Given the description of an element on the screen output the (x, y) to click on. 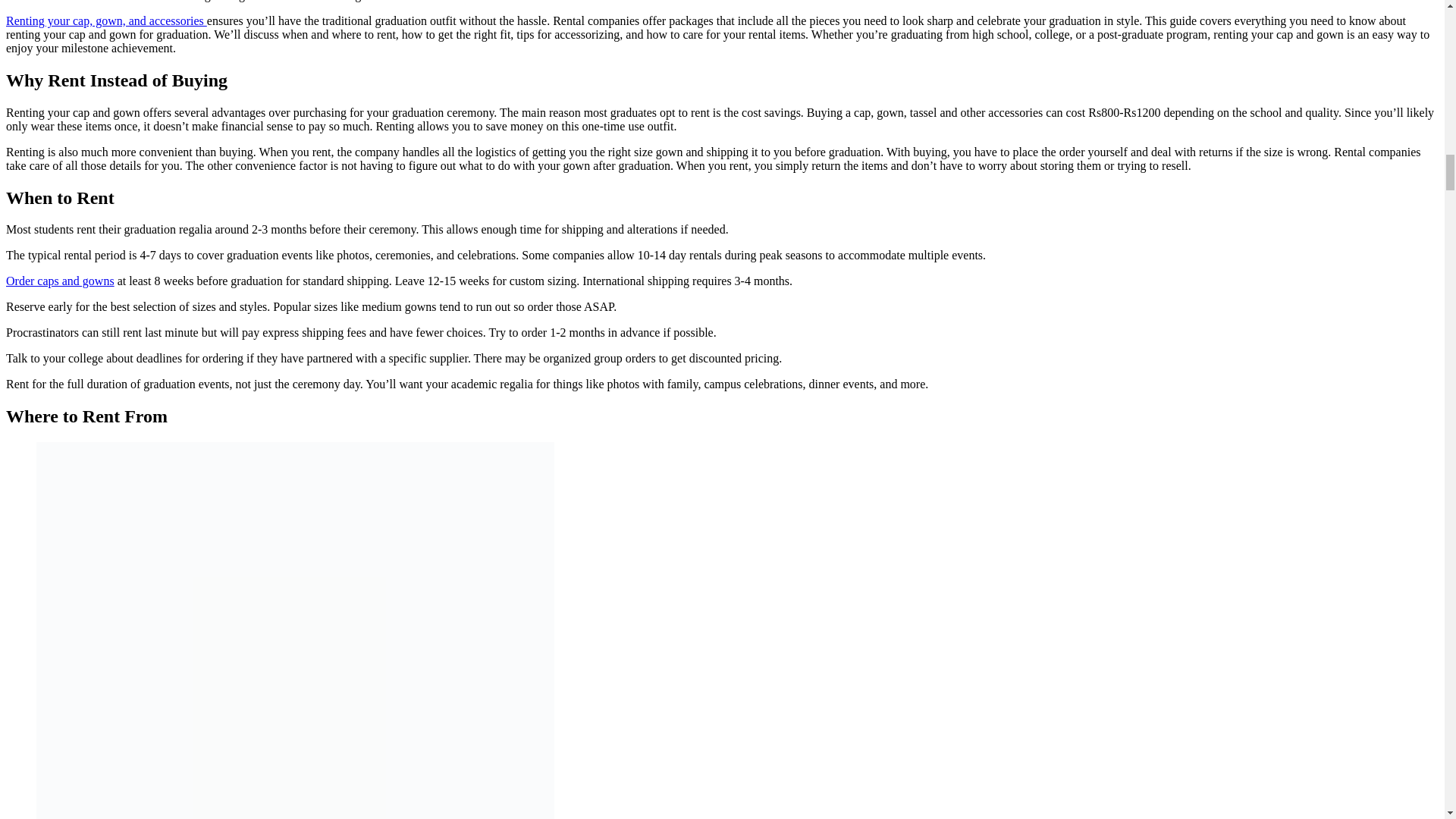
Order caps and gowns (60, 280)
Renting your cap, gown, and accessories (105, 20)
